Given the description of an element on the screen output the (x, y) to click on. 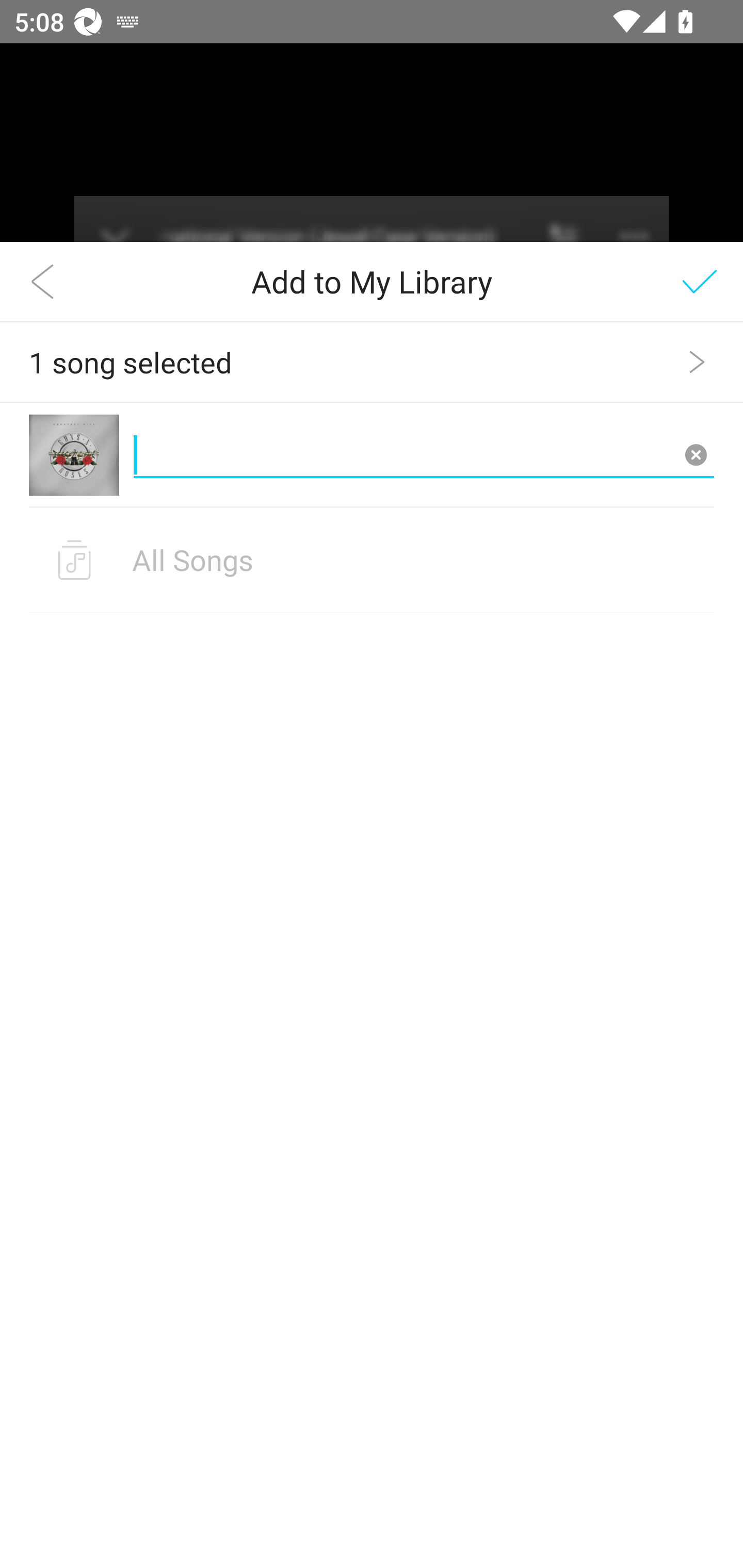
1 song selected label_track_count (371, 362)
All Songs (371, 560)
